Given the description of an element on the screen output the (x, y) to click on. 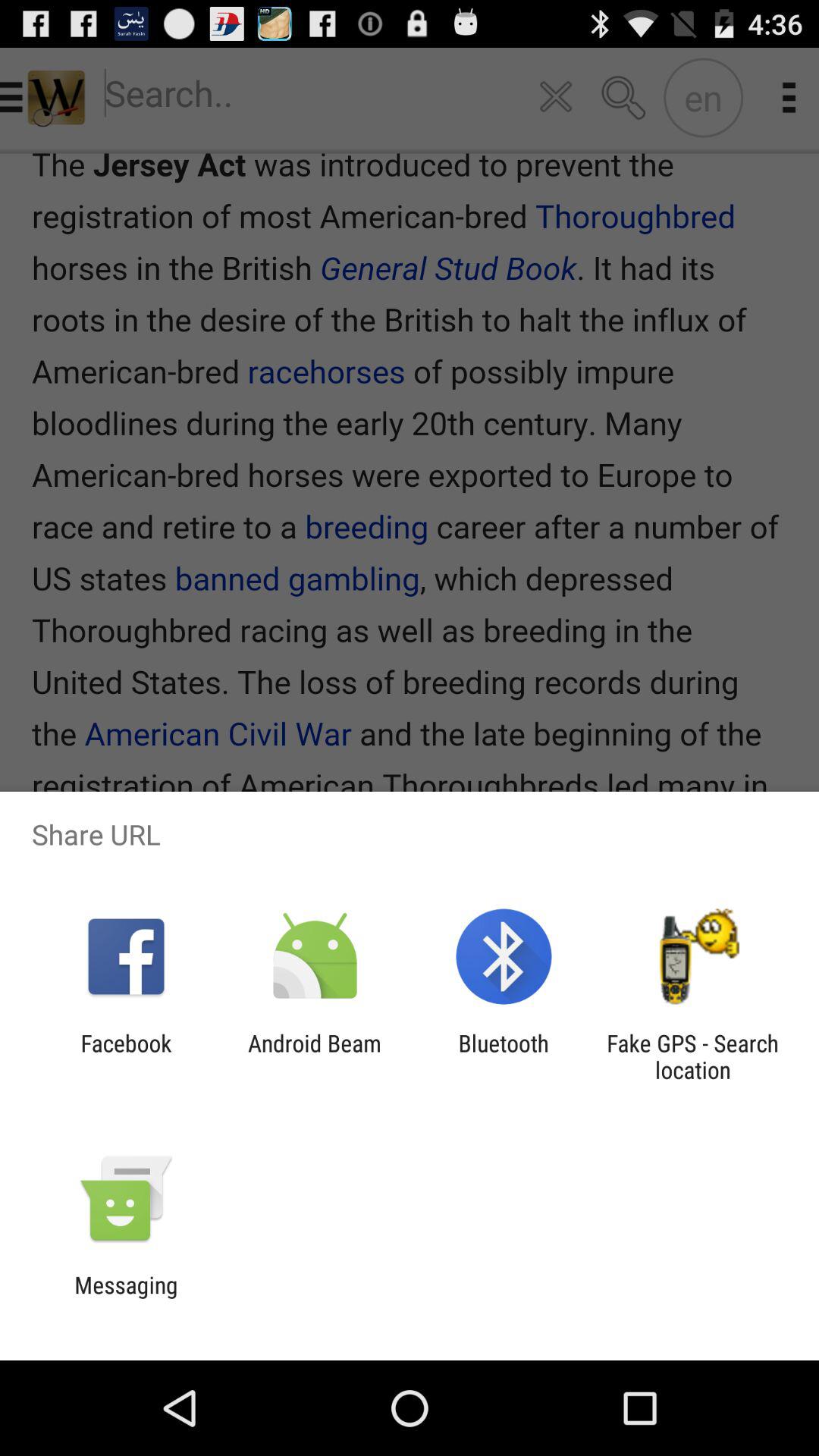
choose the messaging item (126, 1298)
